Given the description of an element on the screen output the (x, y) to click on. 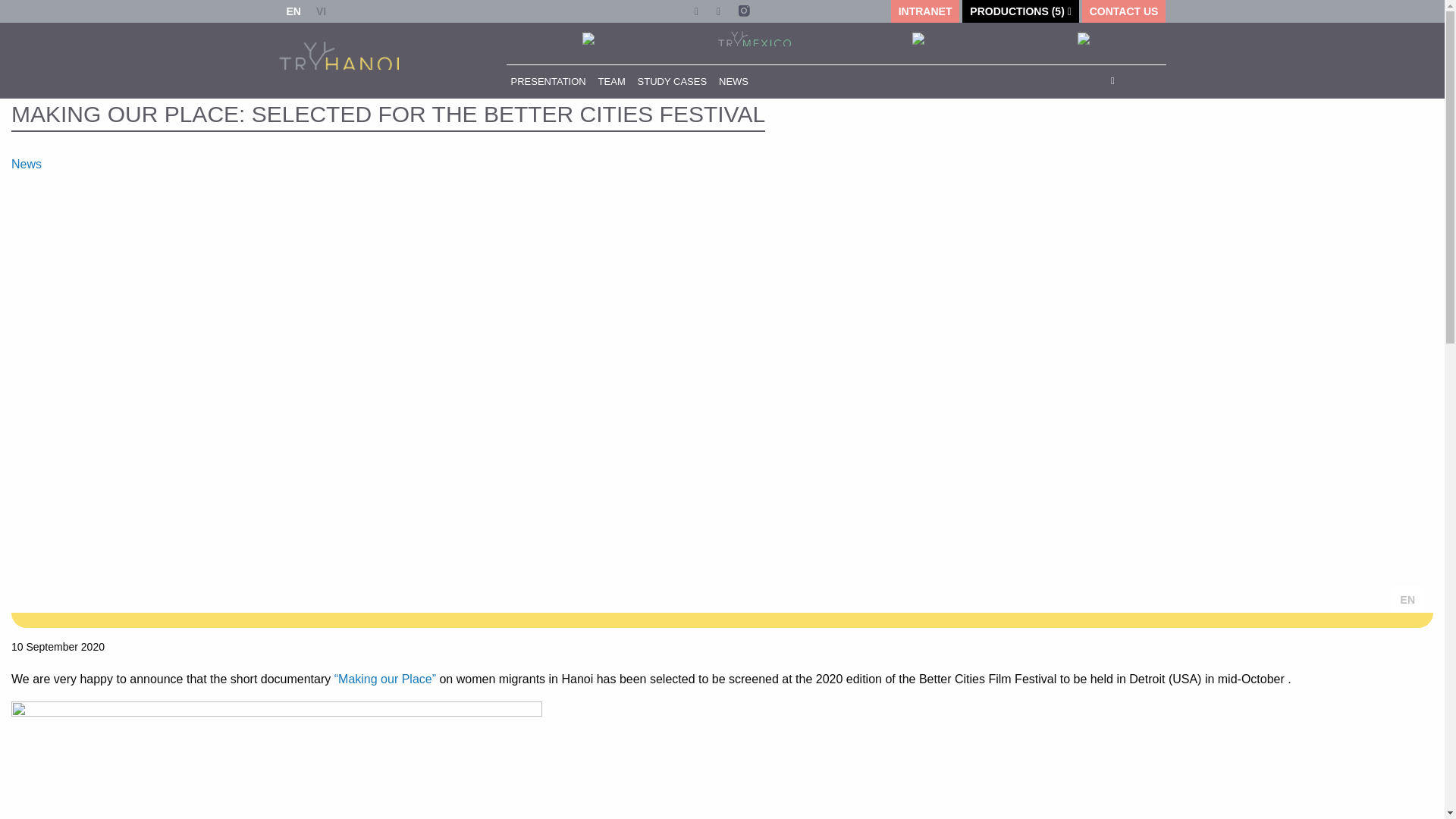
TEAM (612, 81)
STUDY CASES (672, 81)
PRESENTATION (548, 81)
NEWS (733, 81)
INTRANET (925, 10)
CONTACT US (1123, 10)
